Given the description of an element on the screen output the (x, y) to click on. 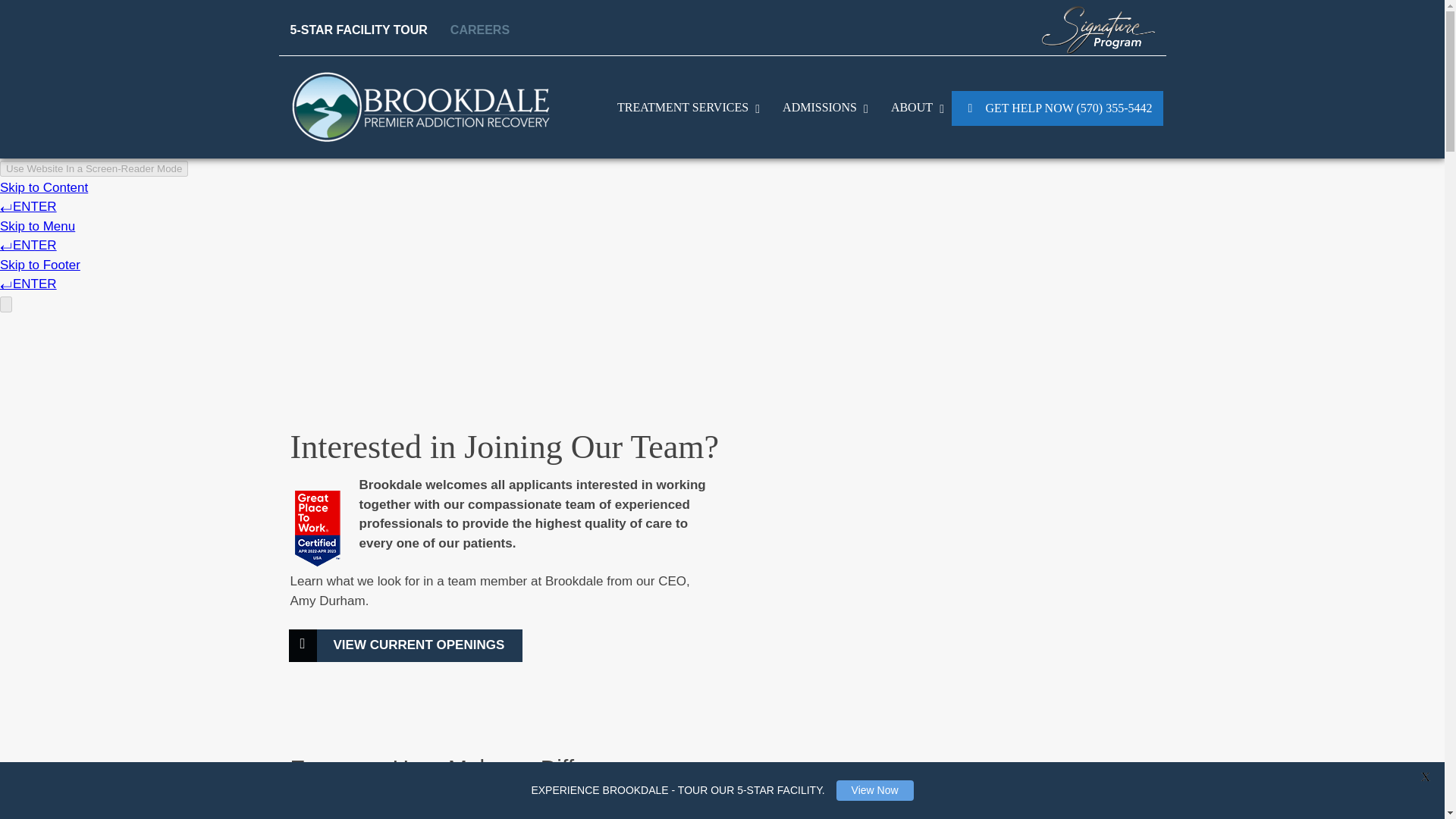
ABOUT (914, 107)
View All Jobs (405, 645)
5-Star Facility Tour (363, 30)
VIEW CURRENT OPENINGS (405, 645)
CAREERS (474, 30)
5-STAR FACILITY TOUR (363, 30)
Join Our Team - What We Look For in a Candidate (943, 593)
Learn More About Brookdale Recovery (914, 107)
Careers (474, 30)
ADMISSIONS (821, 107)
TREATMENT SERVICES (684, 107)
